Given the description of an element on the screen output the (x, y) to click on. 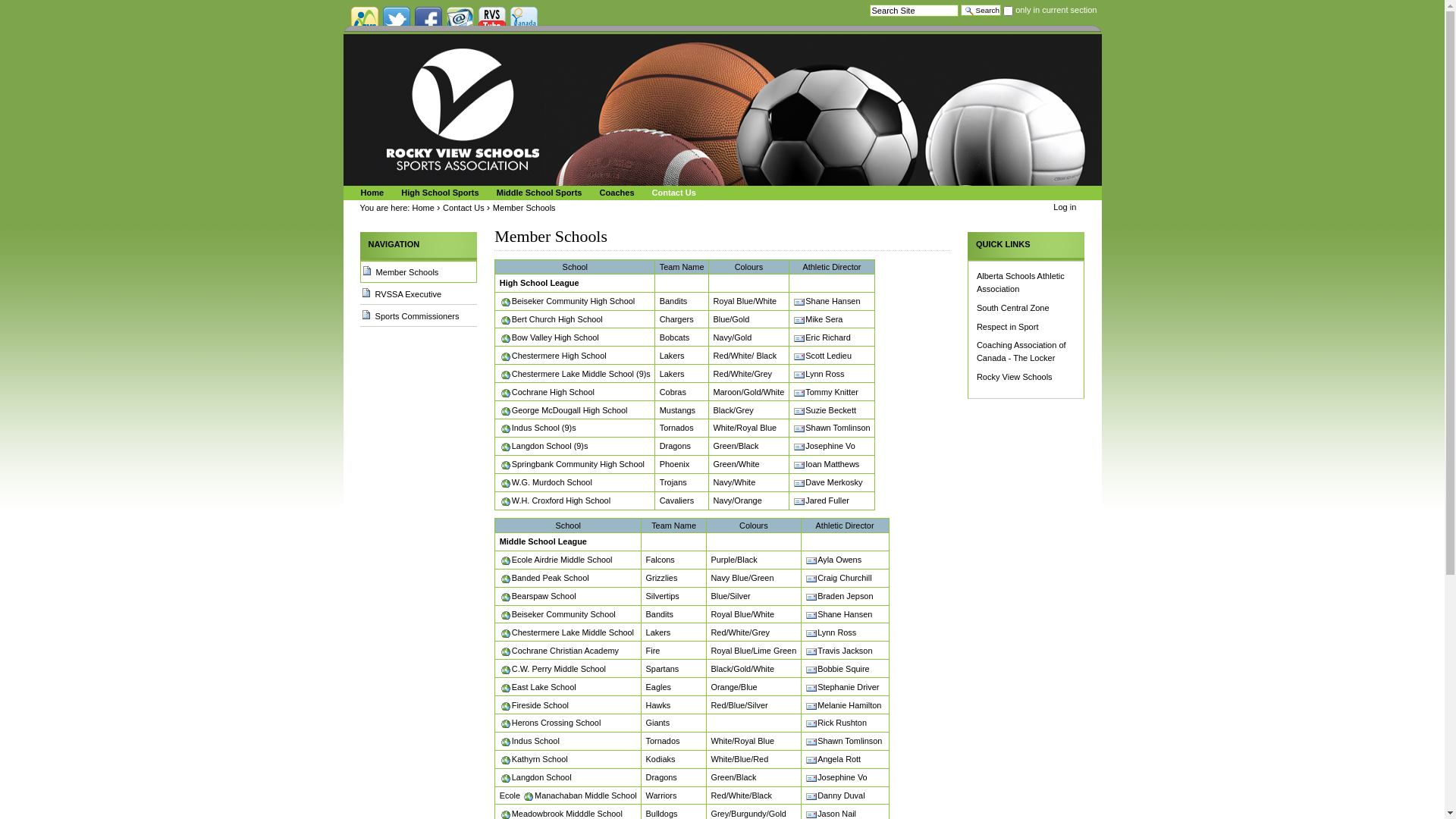
Cochrane High School Element type: text (546, 391)
Beiseker Community High School Element type: text (566, 300)
Donations Element type: hover (522, 19)
Lynn Ross Element type: text (818, 373)
Ecole Airdrie Middle School Element type: text (555, 559)
Beiseker Community School Element type: text (557, 613)
Shane Hansen Element type: text (838, 613)
Facebook Element type: hover (427, 19)
South Central Zone Element type: text (1012, 307)
Home Element type: text (369, 192)
RVS Gmail Element type: hover (459, 19)
Member Schools Element type: text (418, 271)
Craig Churchill Element type: text (838, 577)
Coaches Element type: text (614, 192)
Chestermere High School Element type: text (552, 355)
Dave Merkosky Element type: text (827, 481)
Rocky View Schools Element type: text (1014, 376)
Respect in Sport Element type: text (1007, 326)
Suzie Beckett Element type: text (824, 409)
C.W. Perry Middle School Element type: text (552, 668)
Melanie Hamilton Element type: text (843, 704)
Springbank Community High School Element type: text (571, 463)
Stephanie Driver Element type: text (841, 686)
Josephine Vo Element type: text (836, 776)
Tommy Knitter Element type: text (825, 391)
Jared Fuller Element type: text (821, 500)
Shane Hansen Element type: text (826, 300)
Cochrane Christian Academy Element type: text (558, 650)
Mike Sera Element type: text (817, 318)
RVS Live Streaming Element type: hover (491, 19)
Ayla Owens Element type: text (833, 559)
Angela Rott Element type: text (832, 758)
Shawn Tomlinson Element type: text (843, 740)
W.H. Croxford High School Element type: text (554, 500)
Josephine Vo Element type: text (824, 445)
Coaching Association of Canada - The Locker Element type: text (1021, 351)
Sports Commissioners Element type: text (418, 315)
Travis Jackson Element type: text (838, 650)
Scott Ledieu Element type: text (822, 355)
NAVIGATION Element type: text (418, 244)
Home Element type: text (423, 207)
Lynn Ross Element type: text (830, 632)
High School Sports Element type: text (437, 192)
Banded Peak School Element type: text (544, 577)
Bearspaw School Element type: text (537, 595)
Indus School Element type: text (529, 740)
W.G. Murdoch School Element type: text (545, 481)
Langdon School Element type: text (535, 776)
RVSSA Executive Element type: text (418, 293)
Rick Rushton Element type: text (835, 722)
Indus School (9)s Element type: text (537, 427)
Danny Duval Element type: text (834, 795)
Manachaban Middle School Element type: text (579, 795)
Bert Church High School Element type: text (550, 318)
Middle School Sports Element type: text (536, 192)
George McDougall High School Element type: text (563, 409)
Bobbie Squire Element type: text (837, 668)
Langdon School (9)s Element type: text (543, 445)
Log in Element type: text (1064, 206)
Bow Valley High School Element type: text (549, 337)
Braden Jepson Element type: text (838, 595)
Ioan Matthews Element type: text (826, 463)
Contact Us Element type: text (463, 207)
Search Element type: text (980, 9)
Search Site Element type: hover (913, 10)
Twitter Element type: hover (395, 19)
Kathyrn School Element type: text (533, 758)
Shawn Tomlinson Element type: text (831, 427)
Herons Crossing School Element type: text (550, 722)
East Lake School Element type: text (537, 686)
Rocky View Corporate Site Element type: hover (363, 19)
Eric Richard Element type: text (821, 337)
Chestermere Lake Middle School Element type: text (566, 632)
Chestermere Lake Middle School (9)s Element type: text (574, 373)
Contact Us Element type: text (672, 192)
Alberta Schools Athletic Association Element type: text (1020, 282)
Fireside School Element type: text (533, 704)
